Given the description of an element on the screen output the (x, y) to click on. 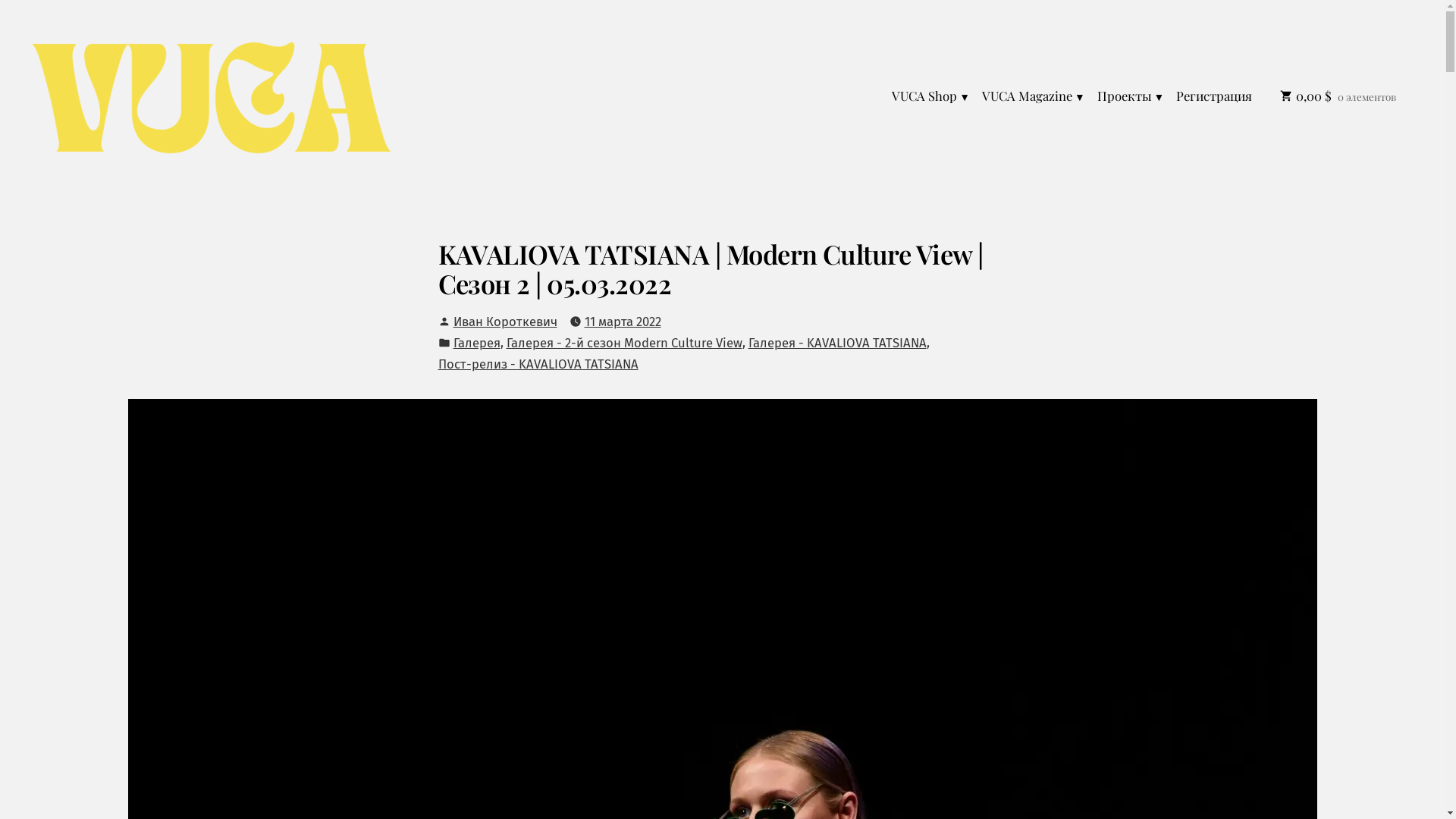
VUCA Shop Element type: text (933, 96)
VUCA Magazine Element type: text (1033, 96)
